Given the description of an element on the screen output the (x, y) to click on. 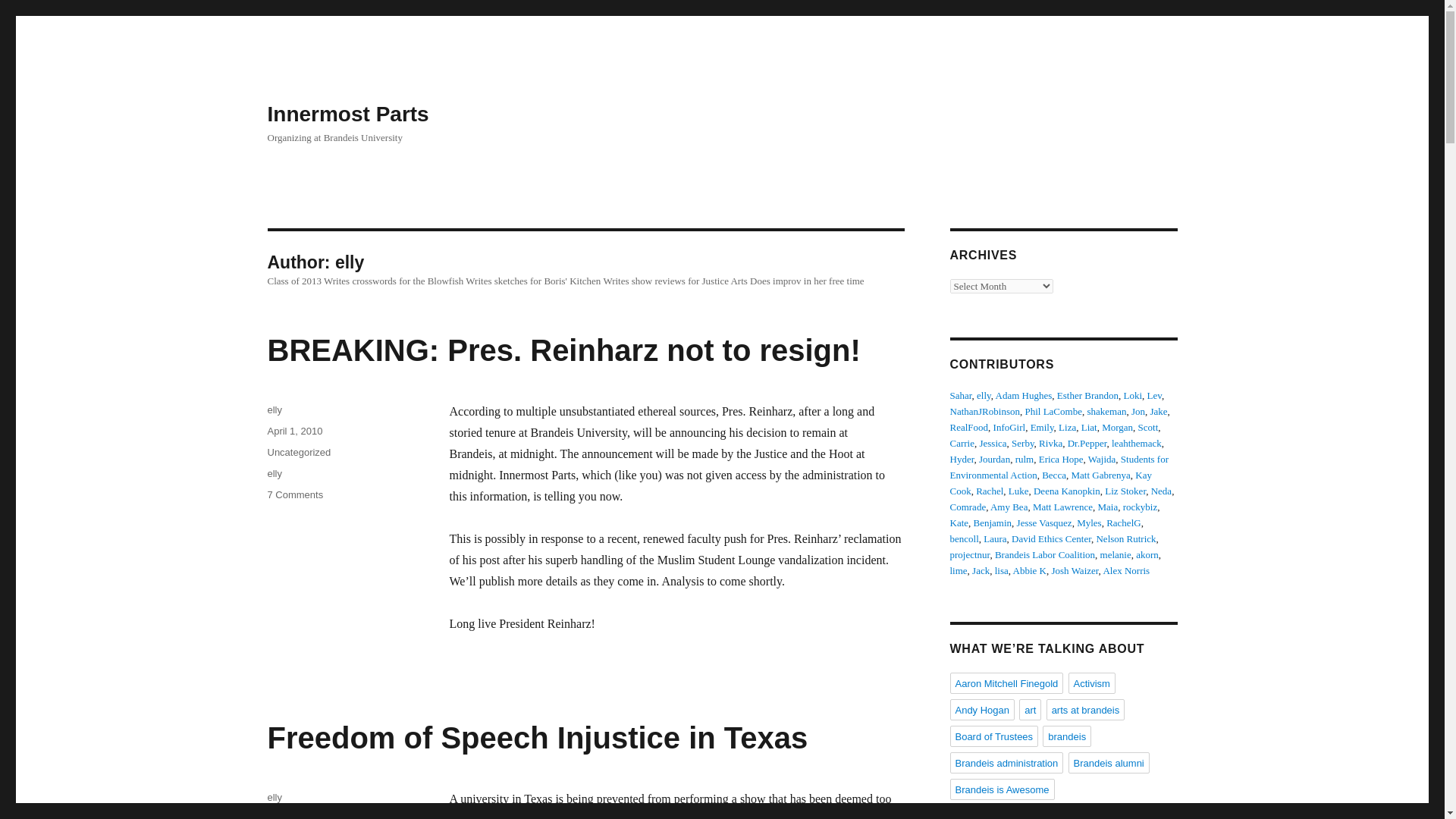
NathanJRobinson (294, 494)
Phil LaCombe (984, 410)
Uncategorized (1053, 410)
RealFood (298, 451)
Jon (968, 427)
elly (1137, 410)
BREAKING: Pres. Reinharz not to resign! (274, 409)
Jake (563, 349)
elly (1158, 410)
